Given the description of an element on the screen output the (x, y) to click on. 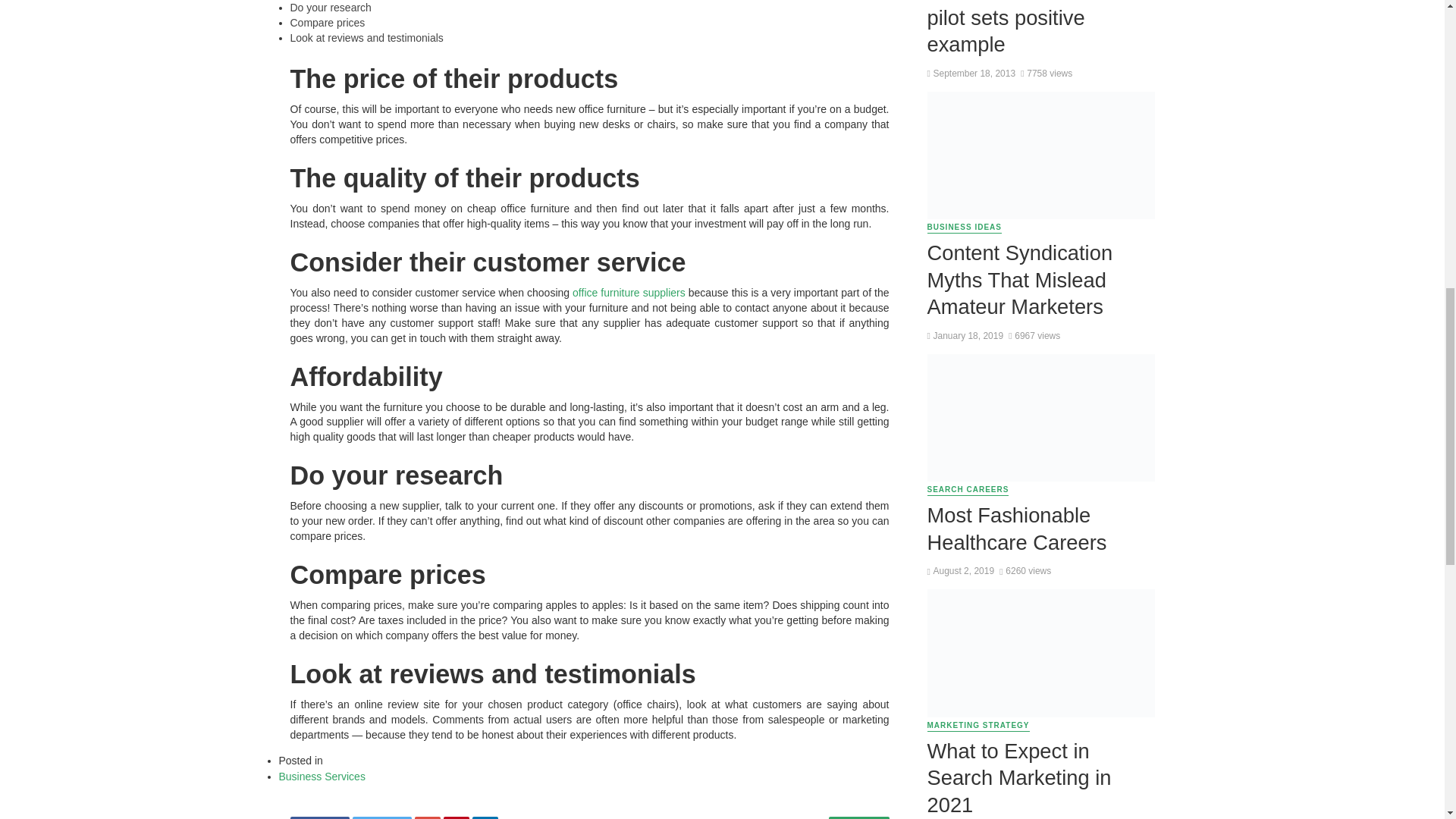
Tweet (382, 817)
office furniture suppliers (628, 292)
Share (319, 817)
0 (858, 817)
Do your research (330, 7)
Compare prices (327, 22)
Business Services (322, 776)
Look at reviews and testimonials (365, 37)
